Given the description of an element on the screen output the (x, y) to click on. 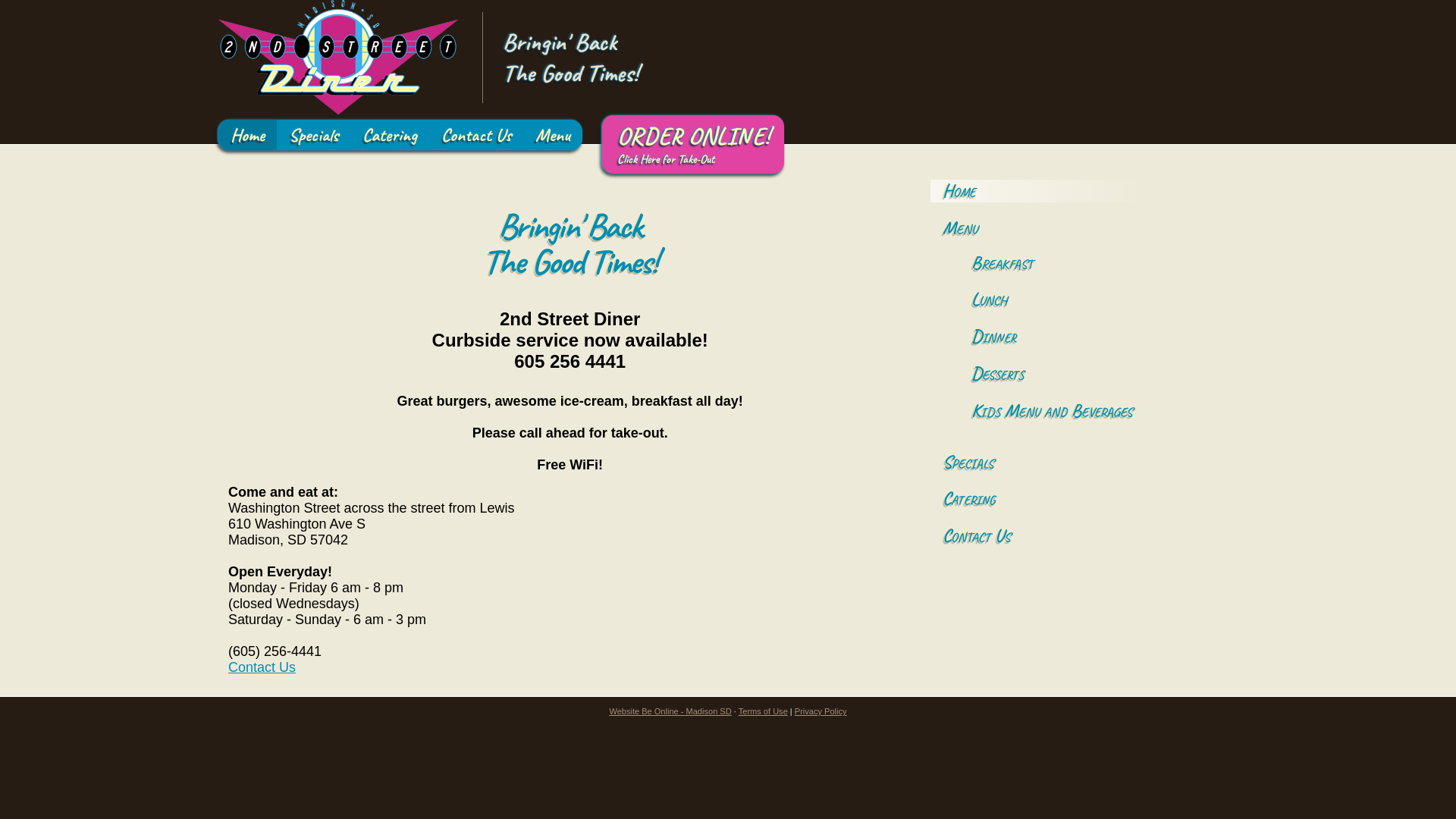
Kids Menu and Beverages Element type: text (1074, 409)
Menu Element type: text (552, 134)
ORDER ONLINE!
Click Here for Take-Out Element type: text (693, 159)
Home Element type: text (1073, 190)
Breakfast Element type: text (1074, 262)
Dinner Element type: text (1074, 336)
Menu Element type: text (1073, 227)
Desserts Element type: text (1074, 373)
Contact Us Element type: text (261, 666)
Lunch Element type: text (1074, 299)
Home Element type: text (247, 134)
Catering Element type: text (389, 134)
Website Be Online - Madison SD Element type: text (669, 710)
Terms of Use Element type: text (762, 710)
Specials Element type: text (1073, 461)
Bringin' Back The Good Times! Element type: hover (338, 57)
Privacy Policy Element type: text (820, 710)
Contact Us Element type: text (1073, 535)
Contact Us Element type: text (476, 134)
Catering Element type: text (1073, 498)
Specials Element type: text (313, 134)
